Given the description of an element on the screen output the (x, y) to click on. 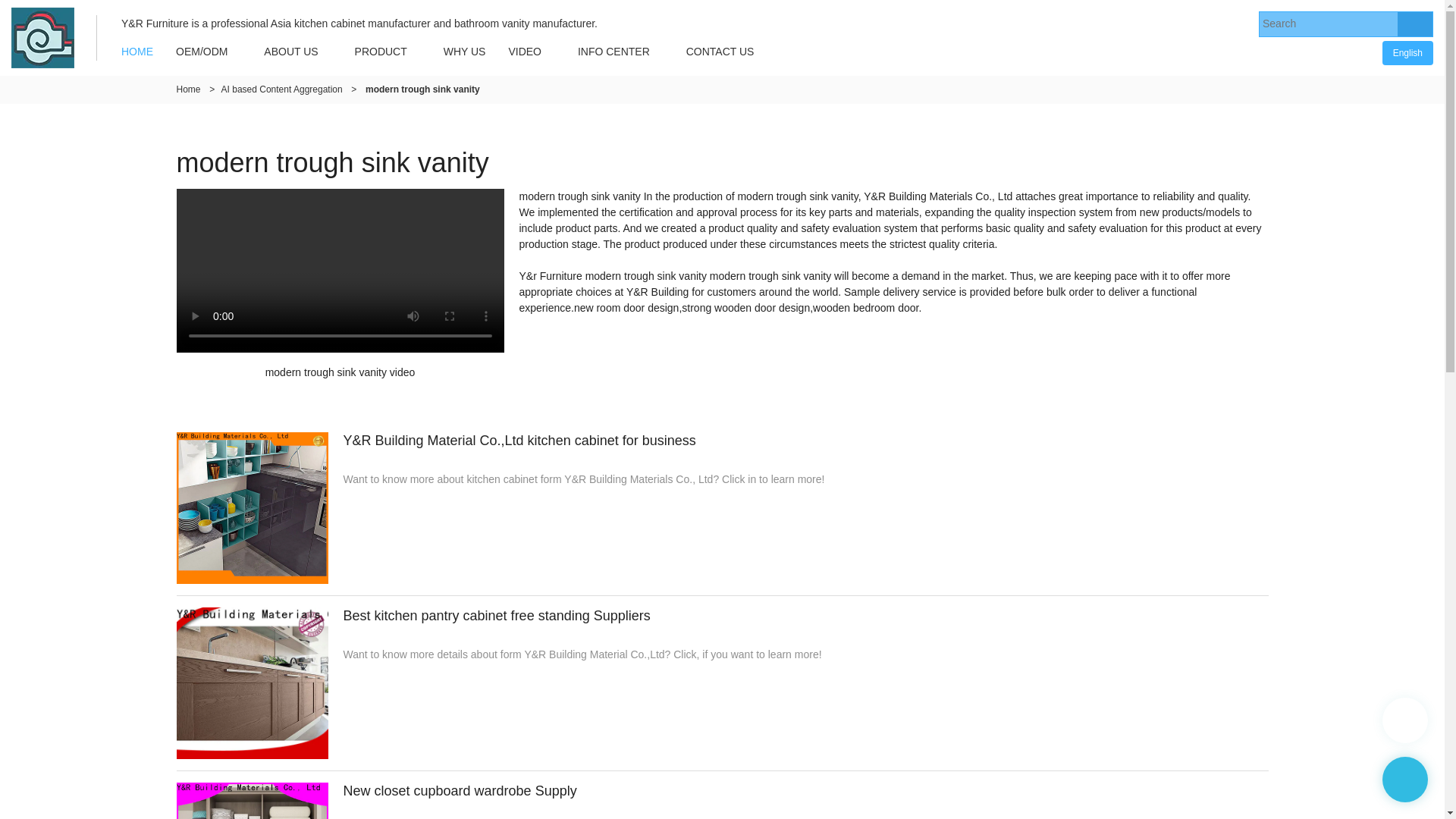
CONTACT US (720, 51)
PRODUCT (381, 51)
ABOUT US (290, 51)
AI based Content Aggregation (281, 89)
Home (188, 89)
INFO CENTER (613, 51)
WHY US (464, 51)
VIDEO (524, 51)
HOME (137, 51)
